Given the description of an element on the screen output the (x, y) to click on. 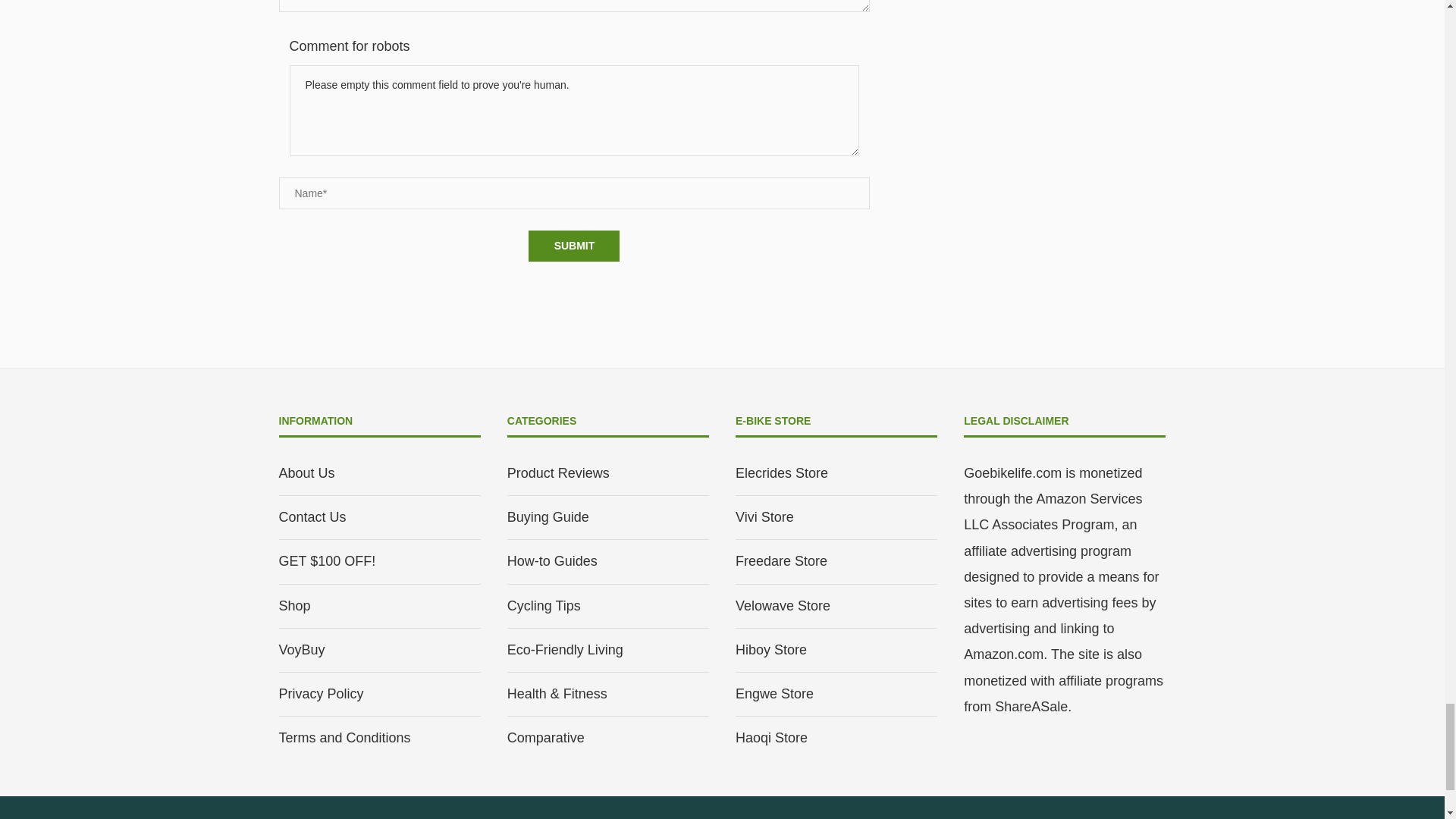
Submit (574, 245)
